Given the description of an element on the screen output the (x, y) to click on. 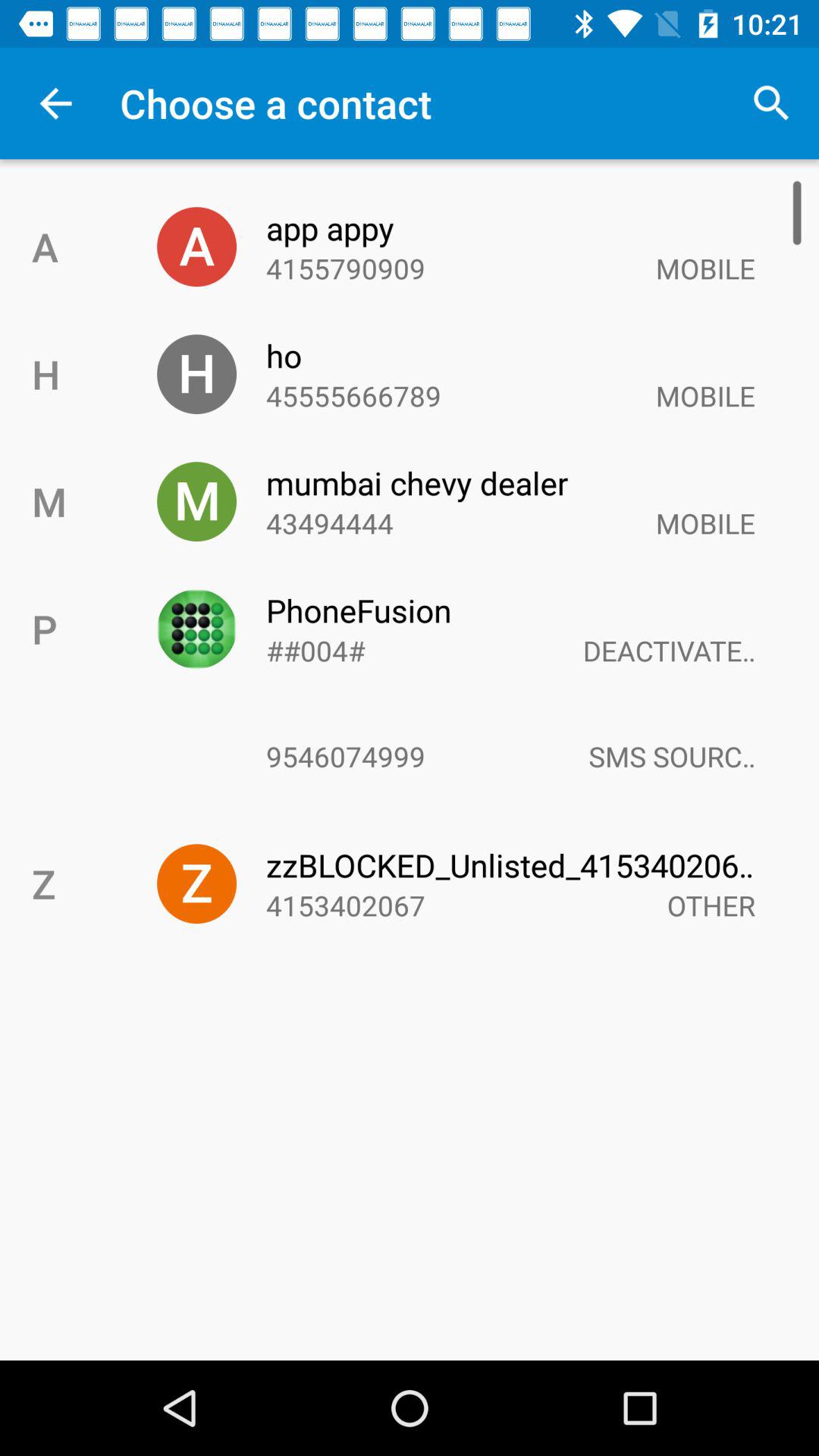
choose app above the a icon (55, 103)
